Given the description of an element on the screen output the (x, y) to click on. 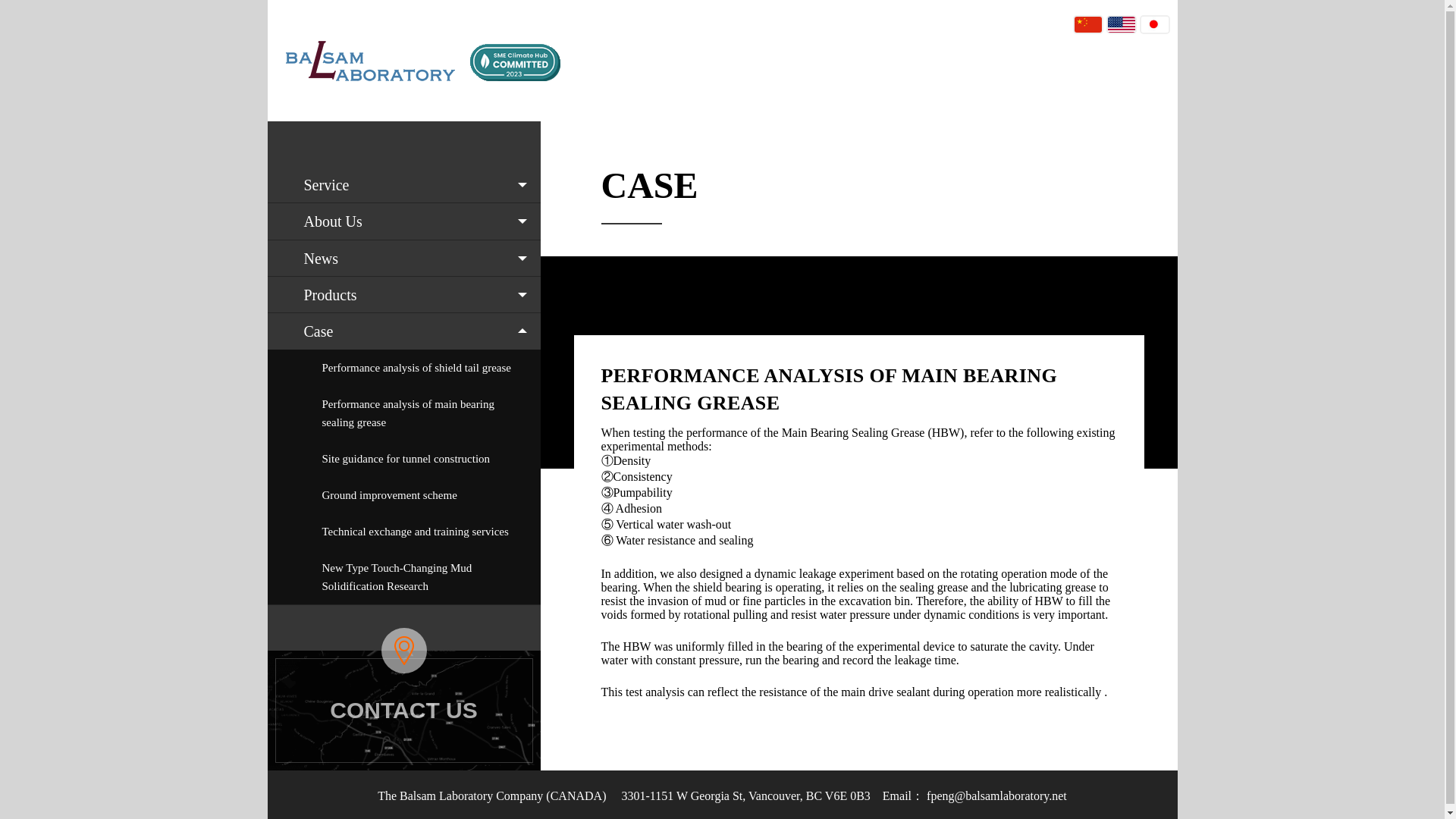
About Us (403, 221)
CONTACT US (403, 710)
Products (403, 294)
Performance analysis of main bearing sealing grease (403, 412)
Performance analysis of shield tail grease (403, 367)
New Type Touch-Changing Mud Solidification Research (403, 576)
Technical exchange and training services (403, 531)
Ground improvement scheme (403, 494)
Service (403, 185)
Case (403, 330)
